Given the description of an element on the screen output the (x, y) to click on. 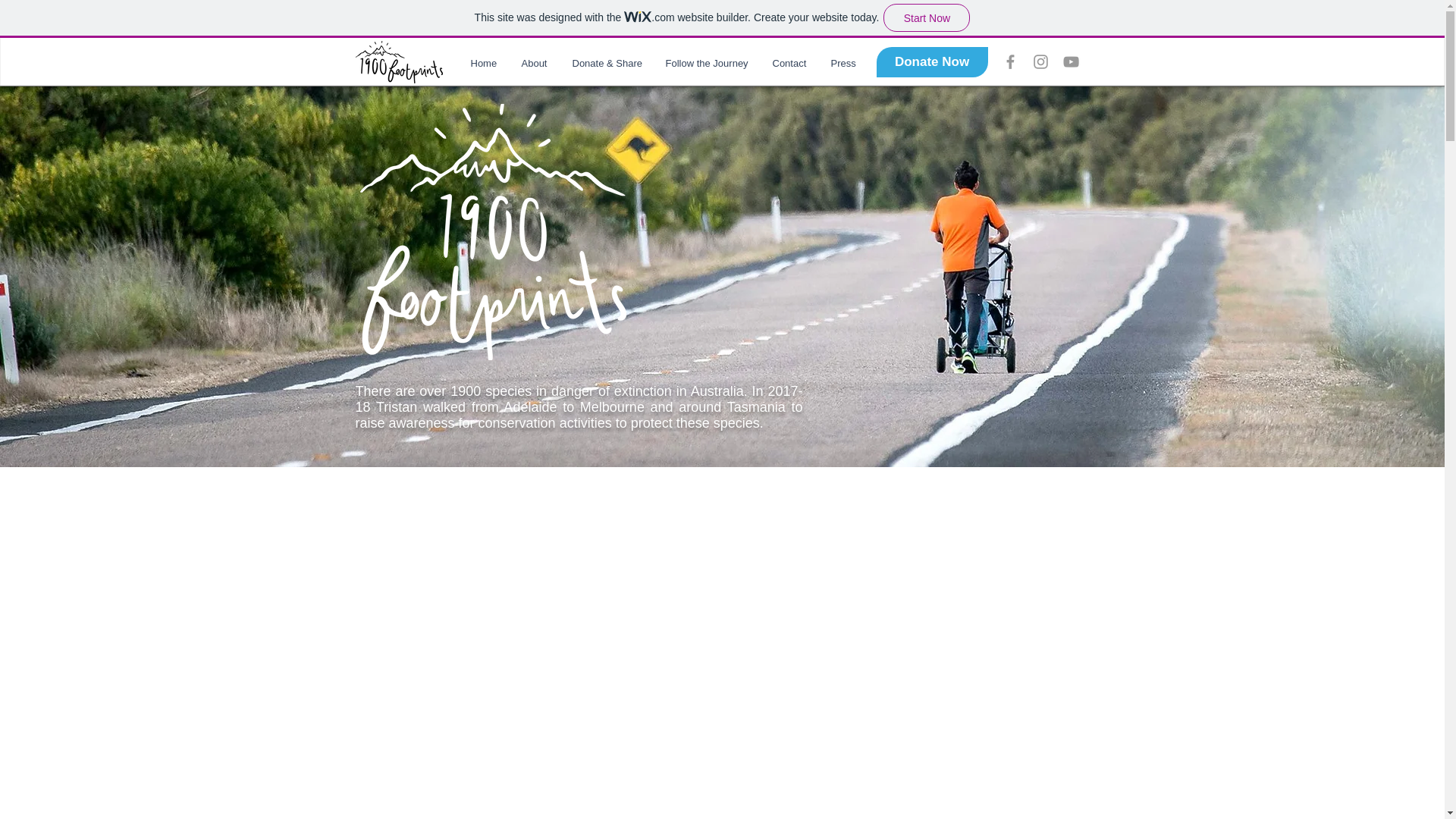
About (534, 62)
1900Footprints.png (492, 232)
Press (842, 62)
1900FootprintsSidepng.png (398, 61)
Donate Now (932, 61)
Follow the Journey (706, 62)
Home (485, 62)
Contact (790, 62)
